Given the description of an element on the screen output the (x, y) to click on. 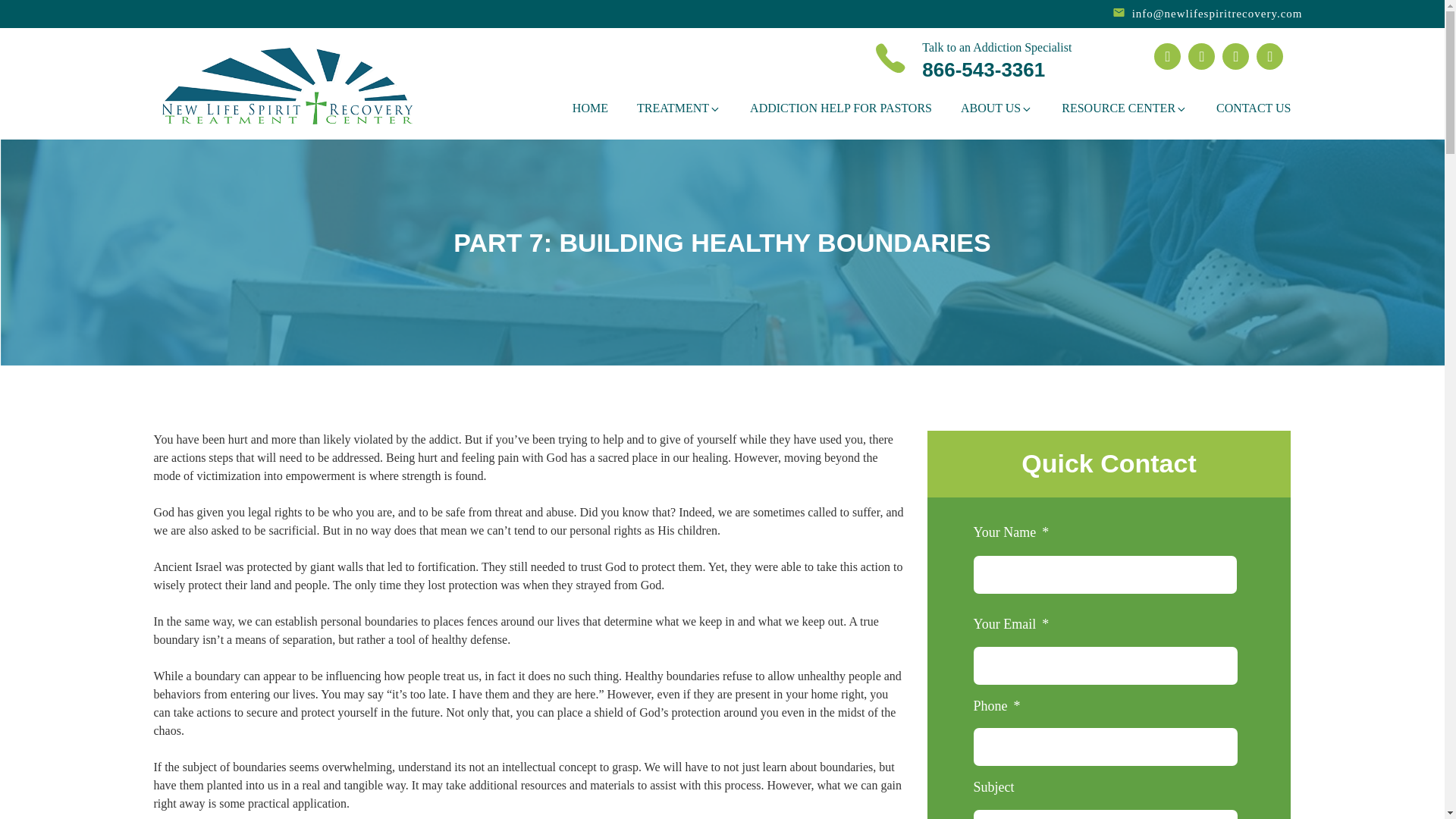
HOME (590, 107)
ABOUT US (996, 107)
CONTACT US (1252, 107)
ADDICTION HELP FOR PASTORS (840, 107)
866-543-3361 (983, 69)
TREATMENT (678, 107)
RESOURCE CENTER (1124, 107)
